Given the description of an element on the screen output the (x, y) to click on. 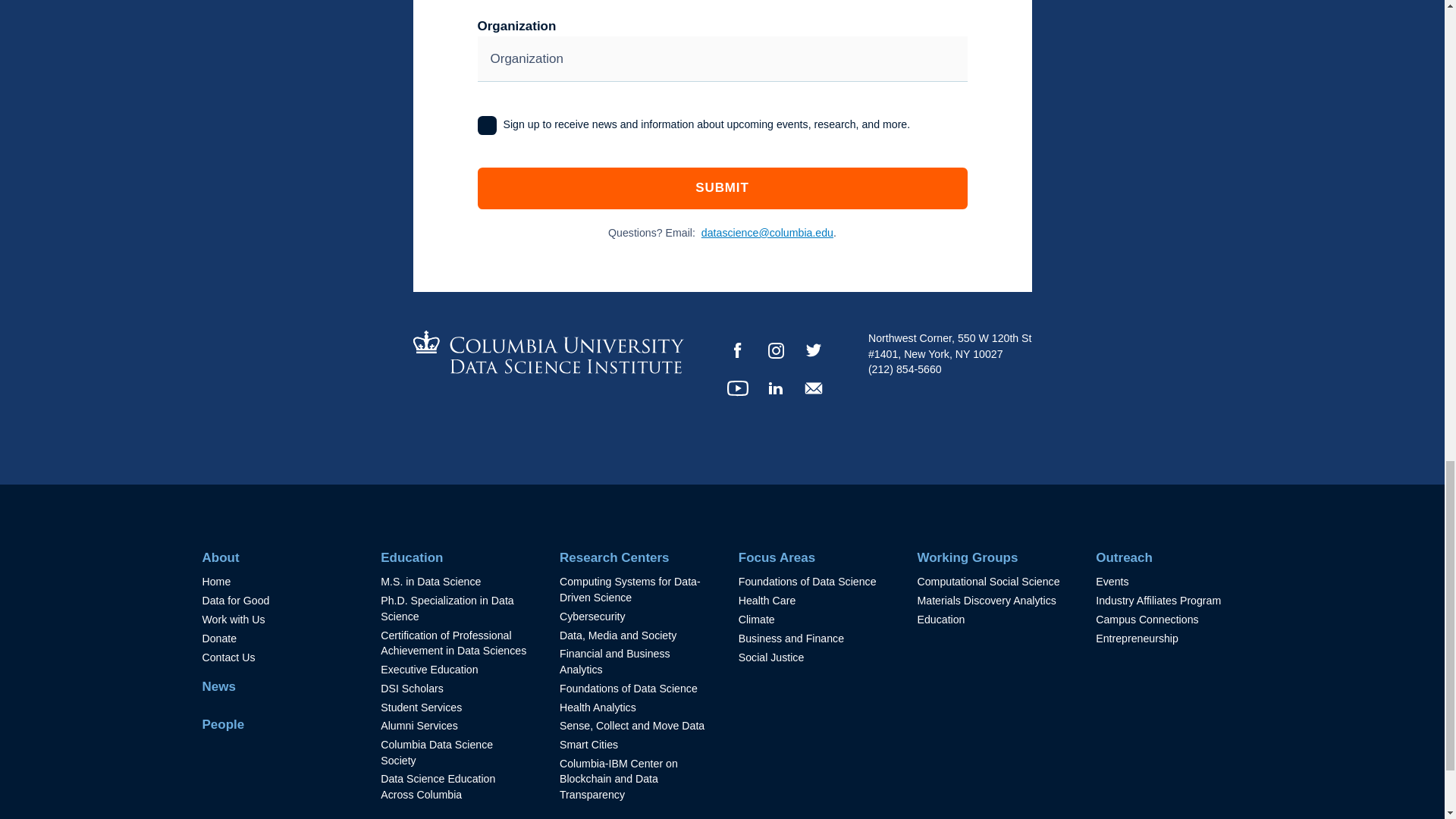
1 (487, 125)
